Given the description of an element on the screen output the (x, y) to click on. 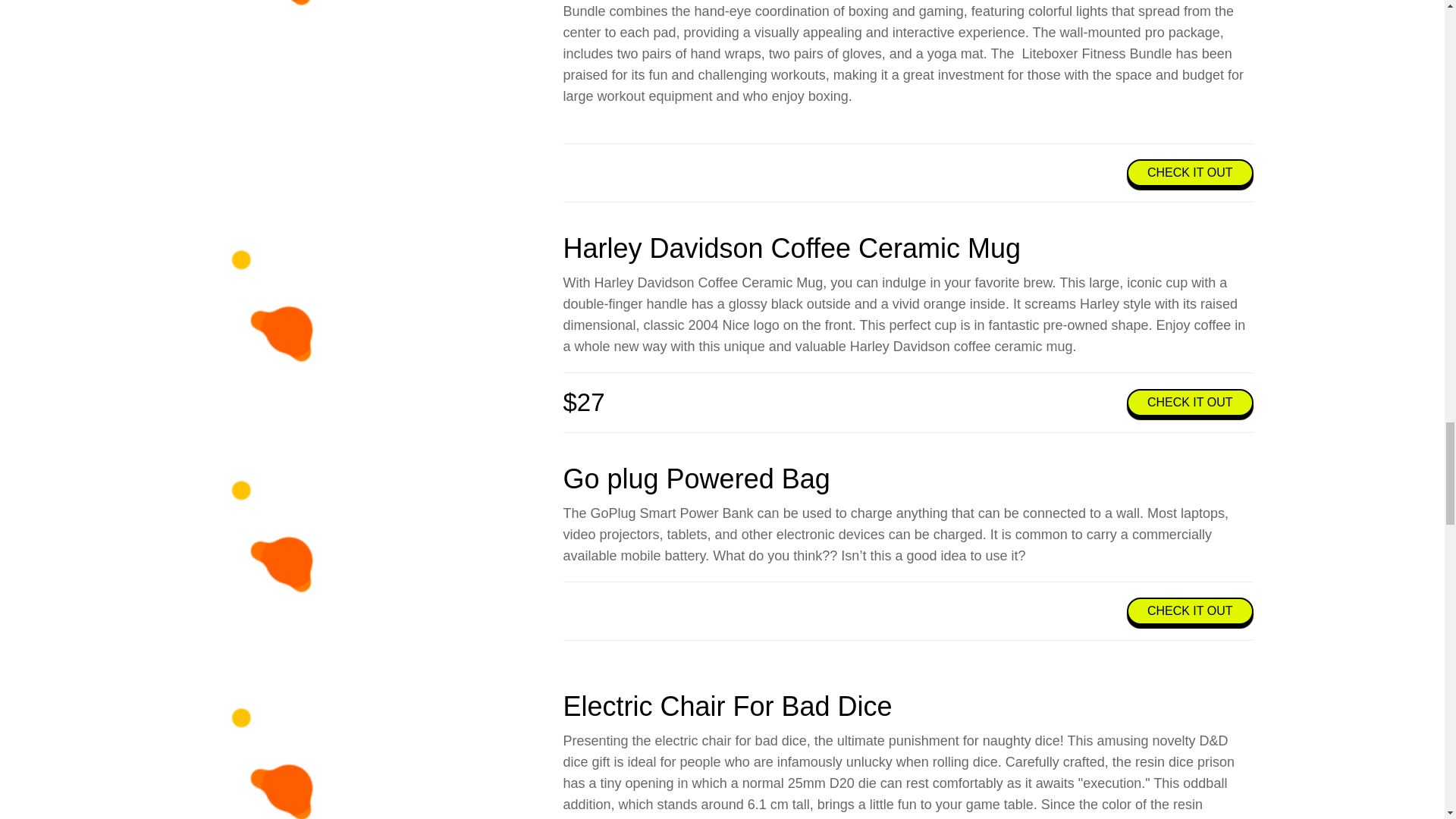
 Liteboxer Fitness Bundle (287, 35)
Go plug Powered Bag (695, 478)
Harley Davidson Coffee Ceramic Mug (287, 329)
Go plug Powered Bag (287, 560)
Electric Chair For Bad Dice (287, 755)
Electric Chair For Bad Dice (726, 706)
Harley Davidson Coffee Ceramic Mug (791, 247)
